Given the description of an element on the screen output the (x, y) to click on. 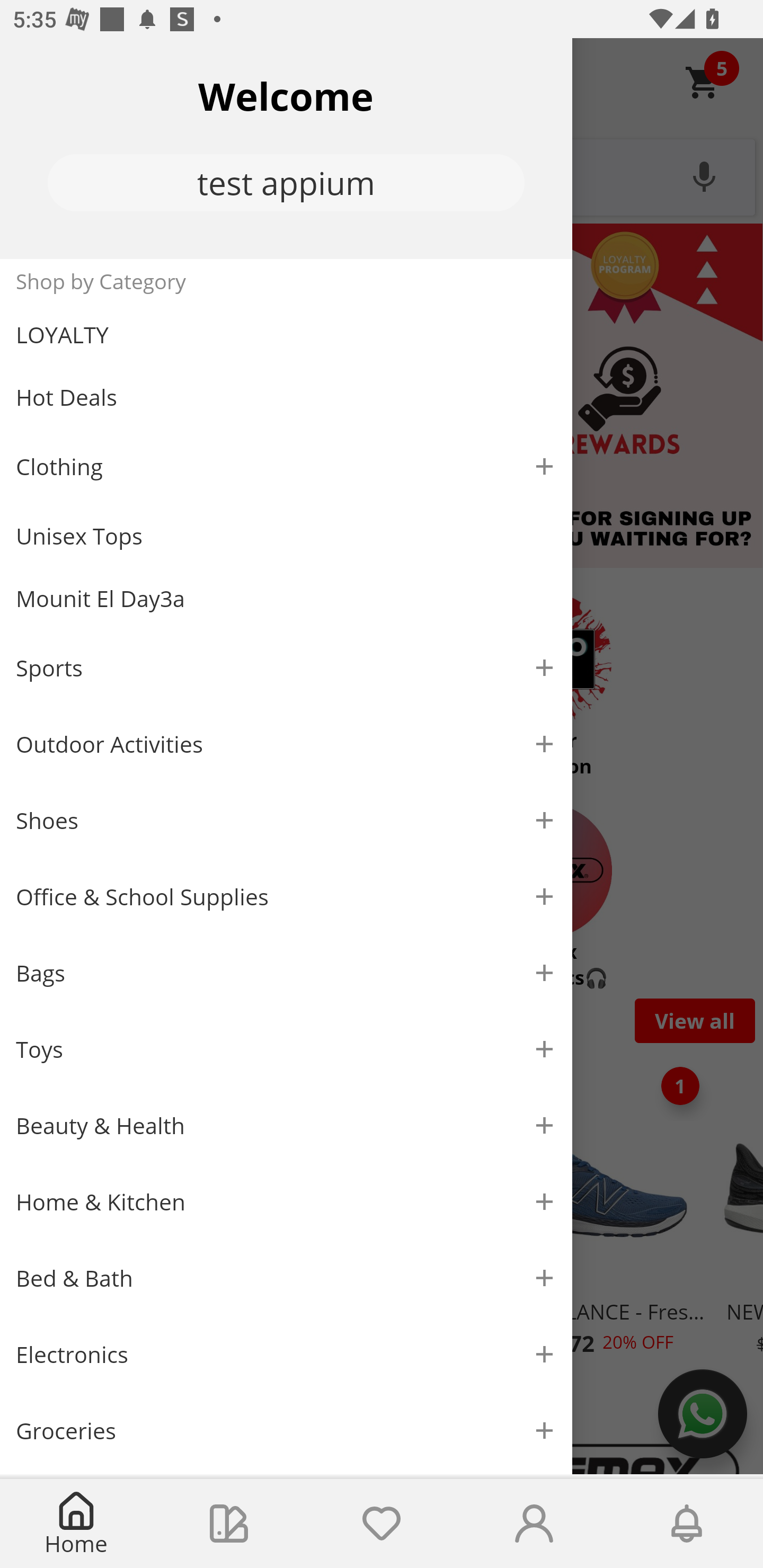
Welcome test appium (286, 147)
What are you looking for? (381, 175)
LOYALTY (286, 334)
Hot Deals (286, 396)
Clothing (286, 466)
Unisex Tops (286, 535)
Mounit El Day3a (286, 598)
Sports (286, 667)
Outdoor Activities (286, 743)
Shoes (286, 820)
Office & School Supplies (286, 896)
Bags (286, 972)
Toys (286, 1049)
Beauty & Health (286, 1125)
Home & Kitchen (286, 1201)
Bed & Bath (286, 1278)
Electronics (286, 1354)
Groceries (286, 1430)
Collections (228, 1523)
Wishlist (381, 1523)
Account (533, 1523)
Notifications (686, 1523)
